Given the description of an element on the screen output the (x, y) to click on. 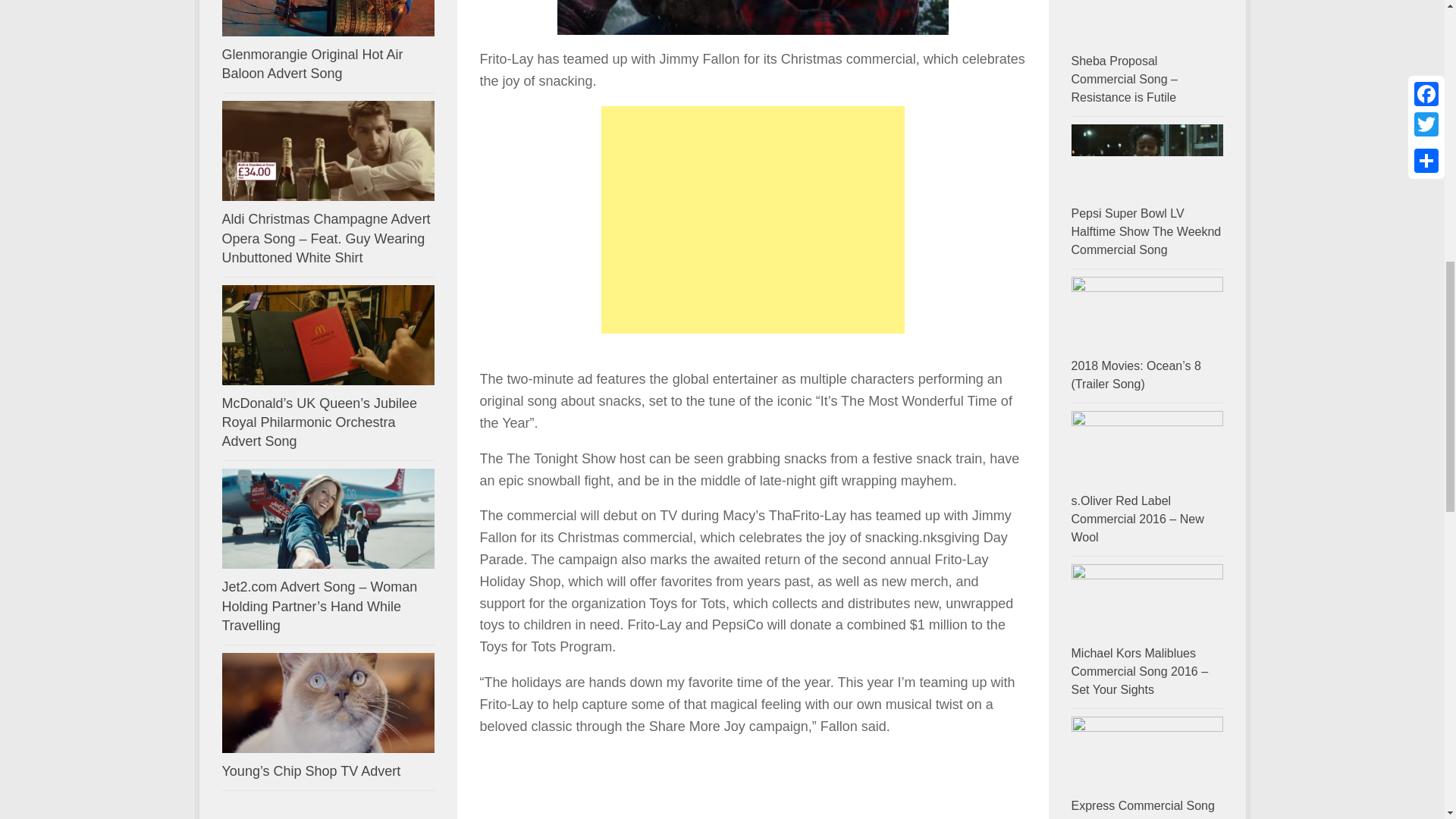
Glenmorangie Original Hot Air Baloon Advert Song (312, 63)
Glenmorangie Original Hot Air Baloon Advert Song (312, 63)
Glenmorangie Original Hot Air Baloon Advert Song (327, 18)
